Given the description of an element on the screen output the (x, y) to click on. 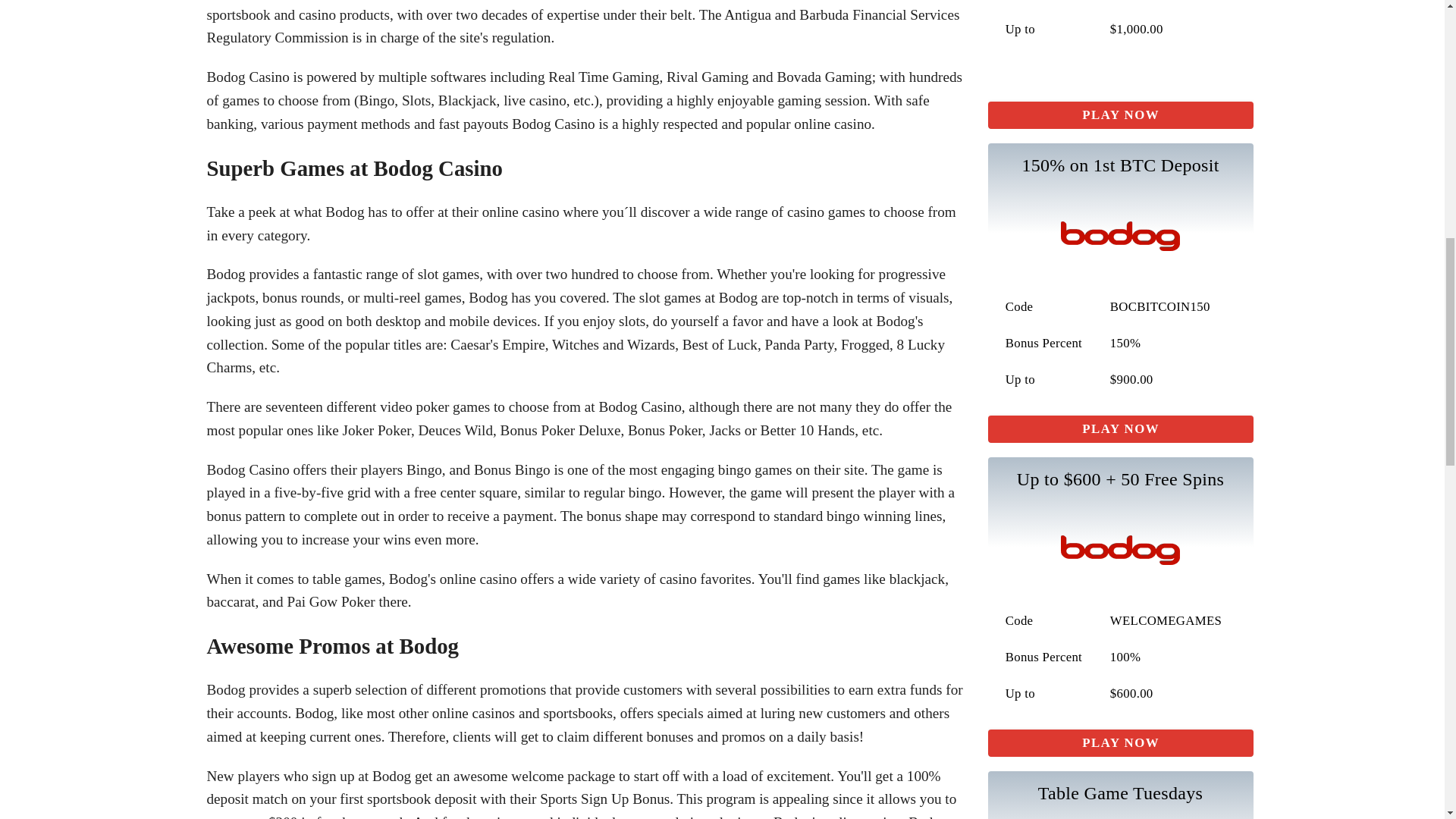
PLAY NOW (1119, 114)
PLAY NOW (1119, 429)
PLAY NOW (1119, 742)
